Given the description of an element on the screen output the (x, y) to click on. 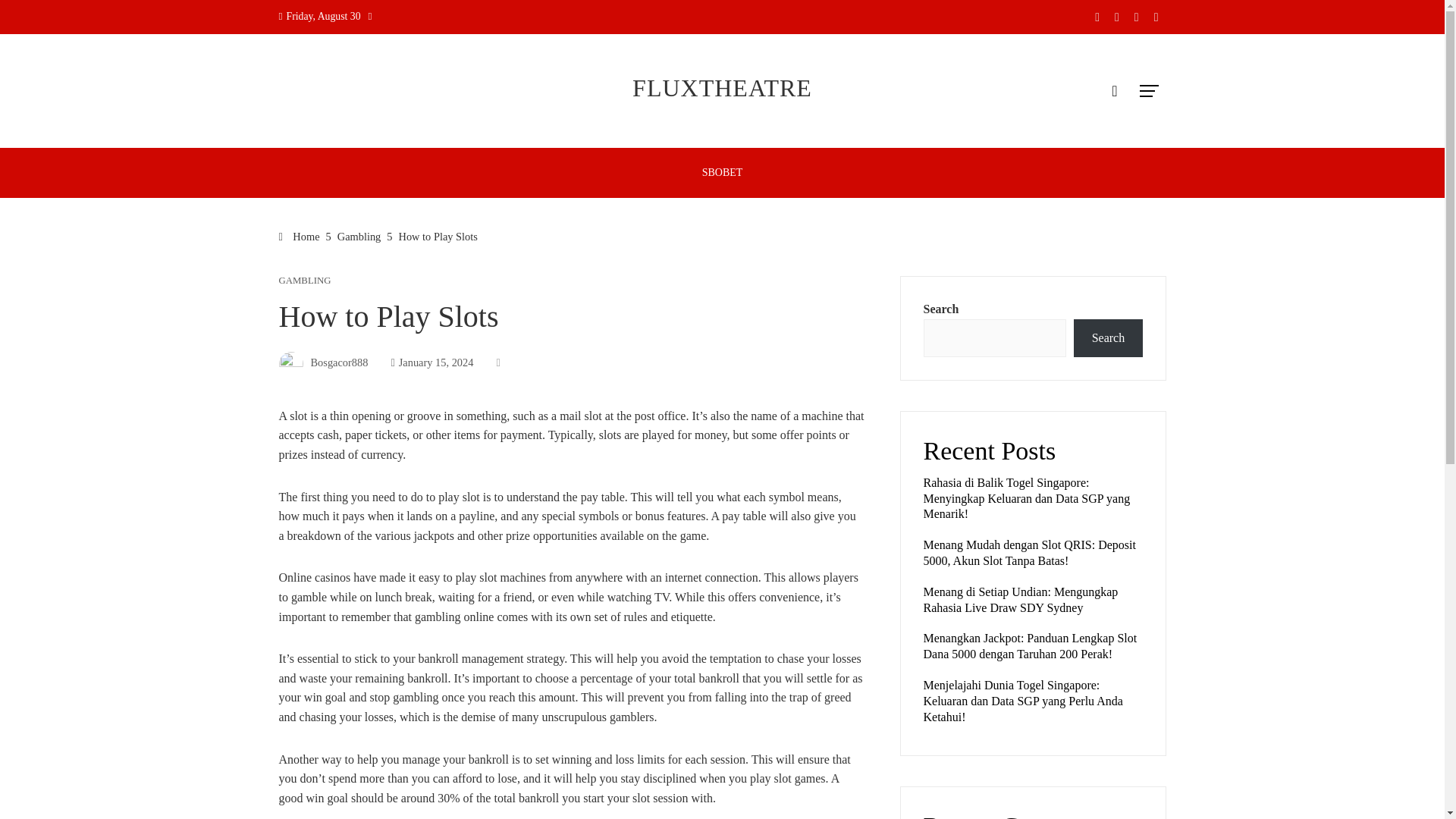
SBOBET (722, 173)
Gambling (359, 236)
Home (299, 236)
FLUXTHEATRE (721, 87)
Search (1107, 338)
GAMBLING (305, 280)
